Given the description of an element on the screen output the (x, y) to click on. 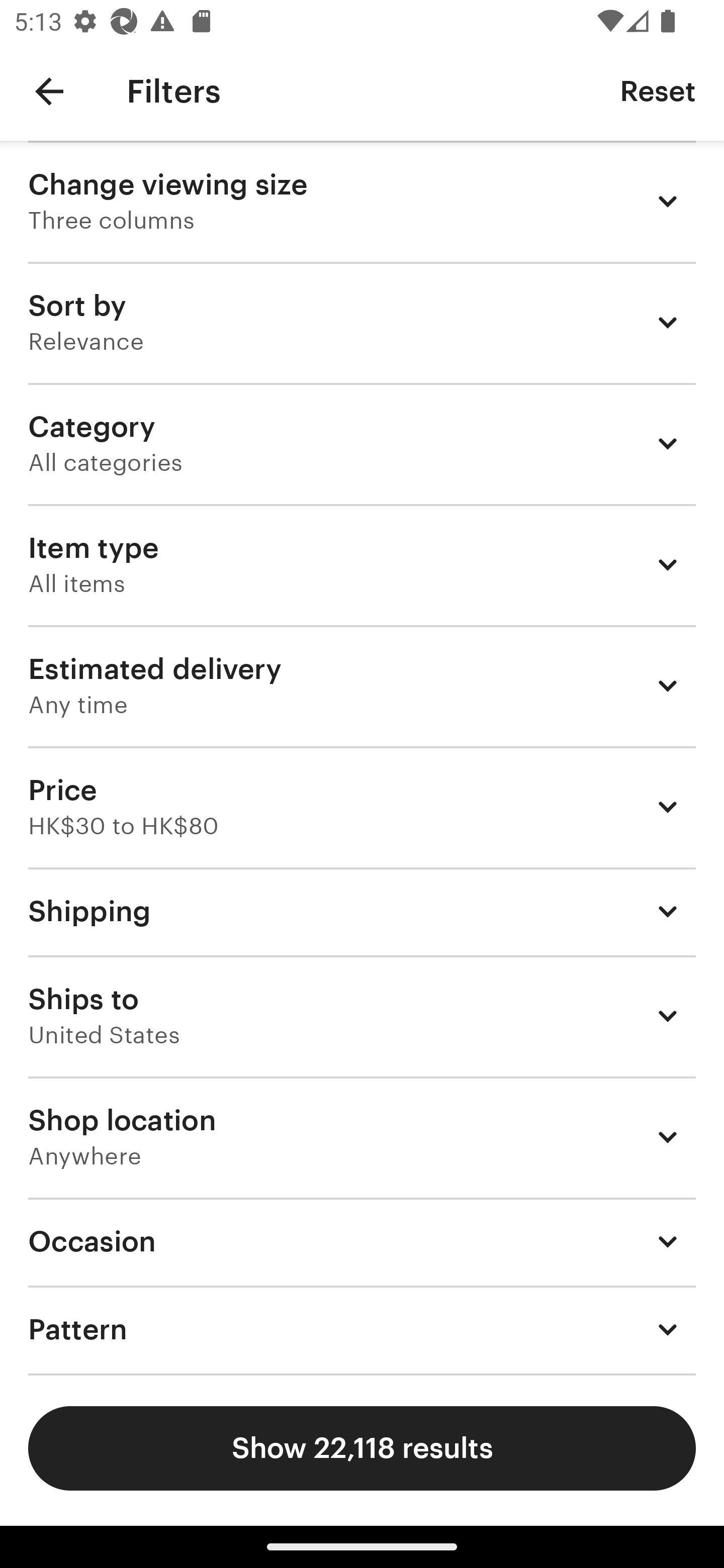
Navigate up (49, 91)
Reset (657, 90)
Change viewing size Three columns (362, 201)
Sort by Relevance (362, 321)
Category All categories (362, 442)
Item type All items (362, 564)
Estimated delivery Any time (362, 685)
Price HK$30 to HK$80 (362, 806)
Shipping (362, 910)
Ships to United States (362, 1015)
Shop location Anywhere (362, 1137)
Occasion (362, 1241)
Pattern (362, 1329)
Show 22,118 results Show results (361, 1448)
